Given the description of an element on the screen output the (x, y) to click on. 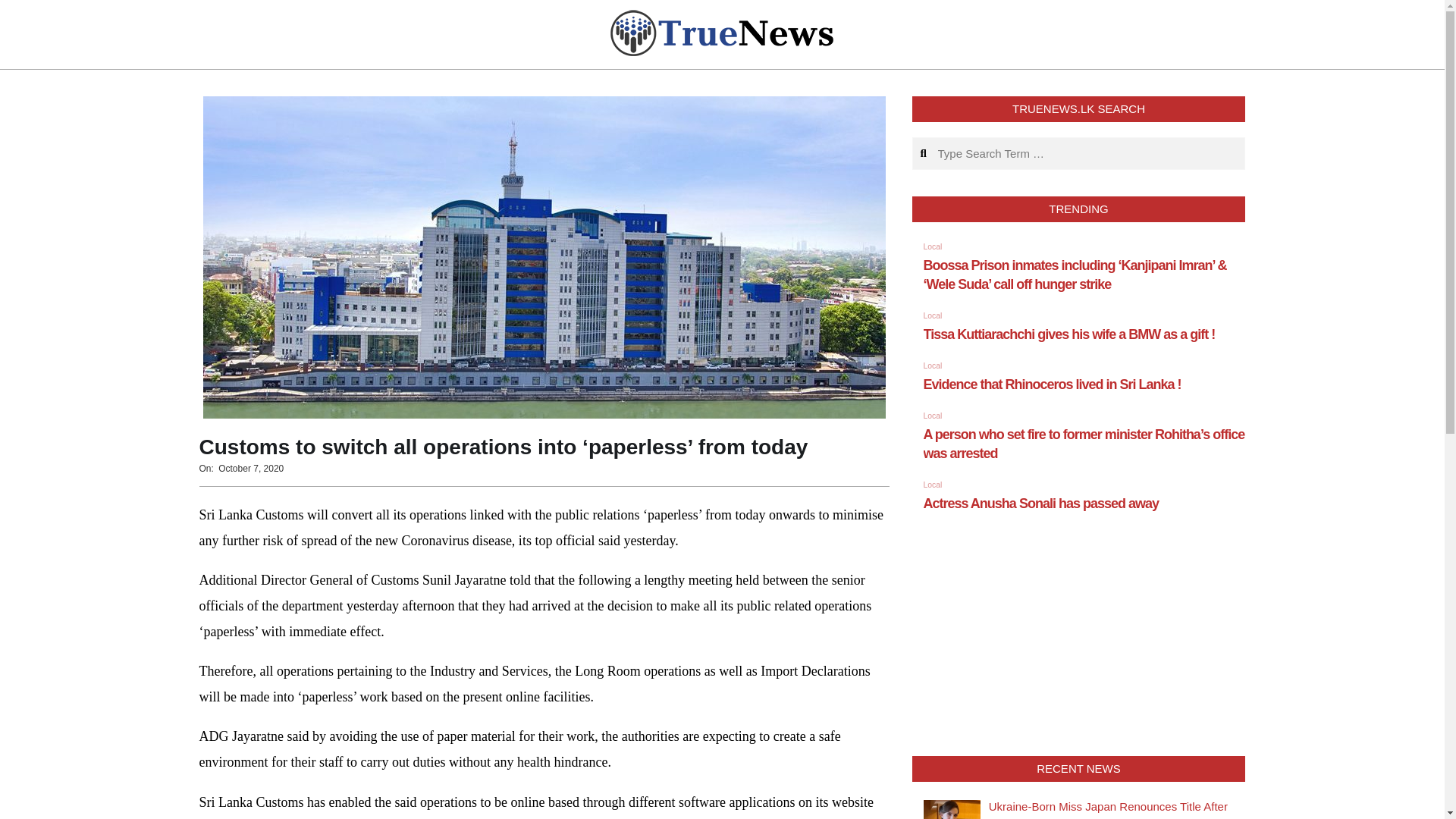
Local (932, 246)
Local (932, 365)
Actress Anusha Sonali has passed away (1040, 503)
Local (932, 415)
Local (932, 316)
Local (932, 484)
Wednesday, October 7, 2020, 8:27 am (250, 468)
Tissa Kuttiarachchi gives his wife a BMW as a gift ! (1069, 334)
Evidence that Rhinoceros lived in Sri Lanka ! (1051, 384)
